Given the description of an element on the screen output the (x, y) to click on. 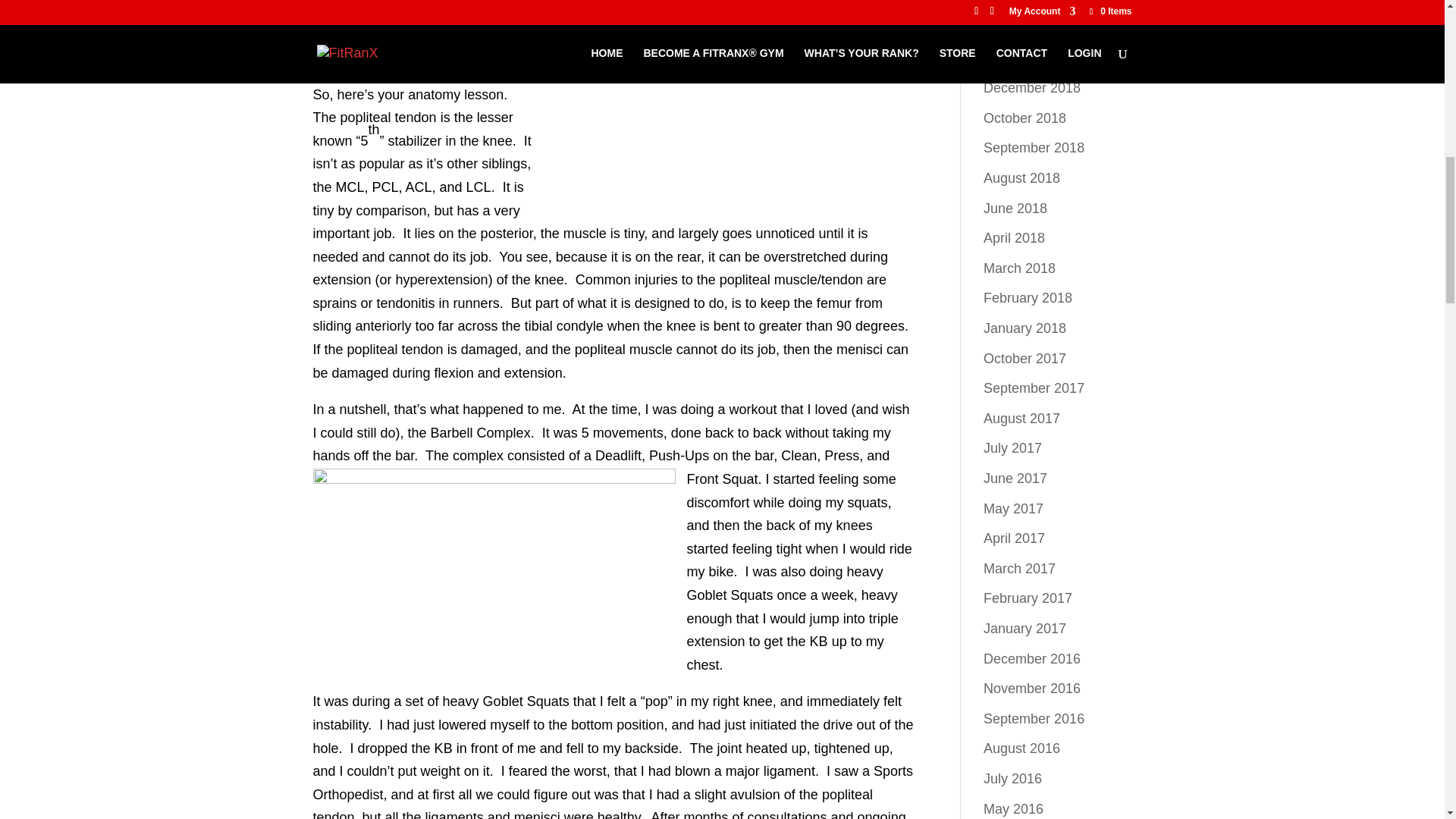
October 2018 (1024, 118)
August 2018 (1021, 177)
December 2018 (1032, 87)
Have You Ever Wondered Why Toddlers Can Squat Perfectly? (1053, 13)
September 2018 (1034, 147)
June 2018 (1015, 208)
